Given the description of an element on the screen output the (x, y) to click on. 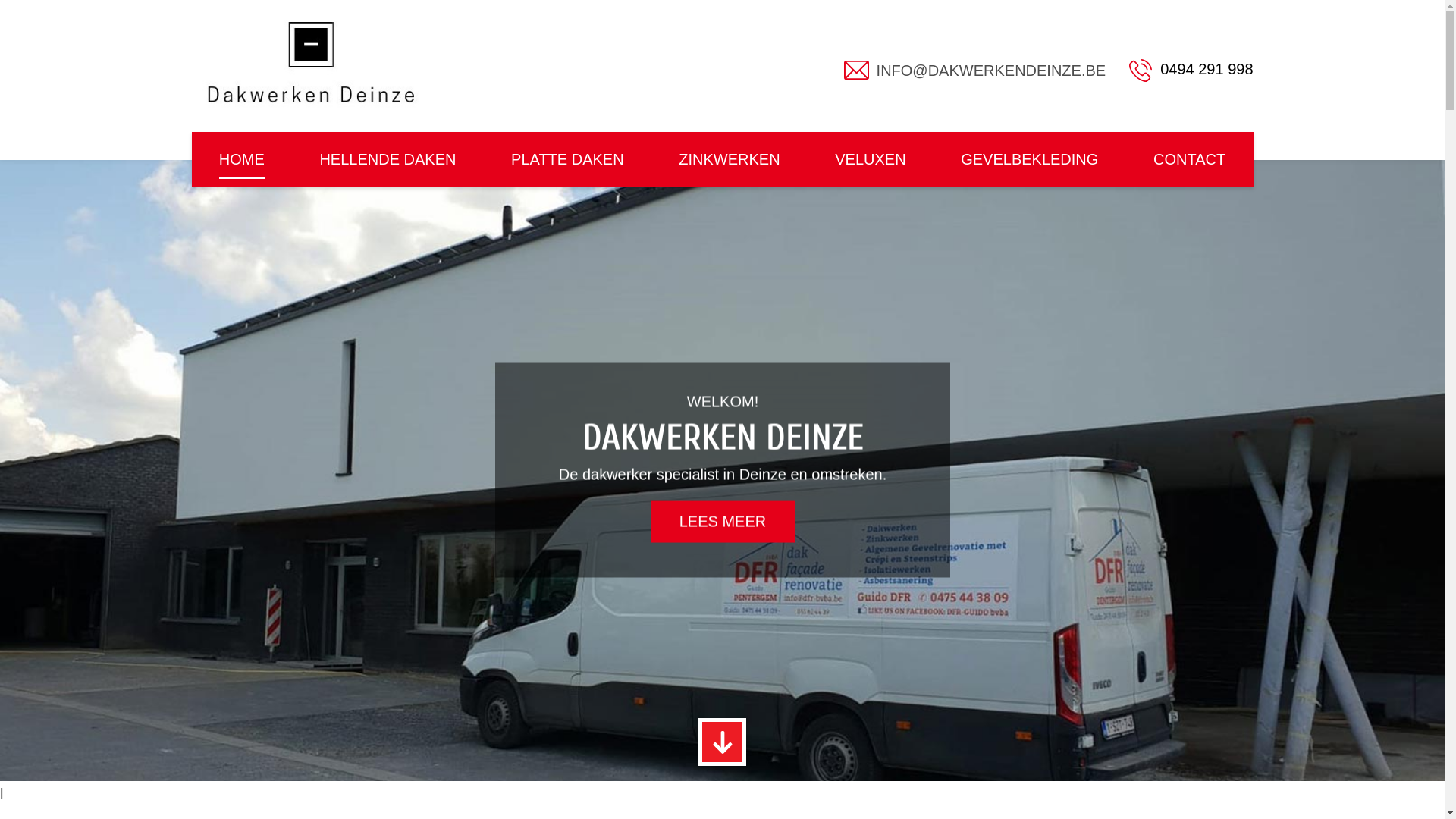
0494 291 998 Element type: text (1190, 70)
GEVELBEKLEDING Element type: text (1029, 158)
HOME Element type: text (241, 158)
CONTACT Element type: text (1189, 158)
INFO@DAKWERKENDEINZE.BE Element type: text (991, 70)
LEES MEER Element type: text (722, 521)
VELUXEN Element type: text (869, 158)
PLATTE DAKEN Element type: text (567, 158)
ZINKWERKEN Element type: text (728, 158)
HELLENDE DAKEN Element type: text (387, 158)
